Given the description of an element on the screen output the (x, y) to click on. 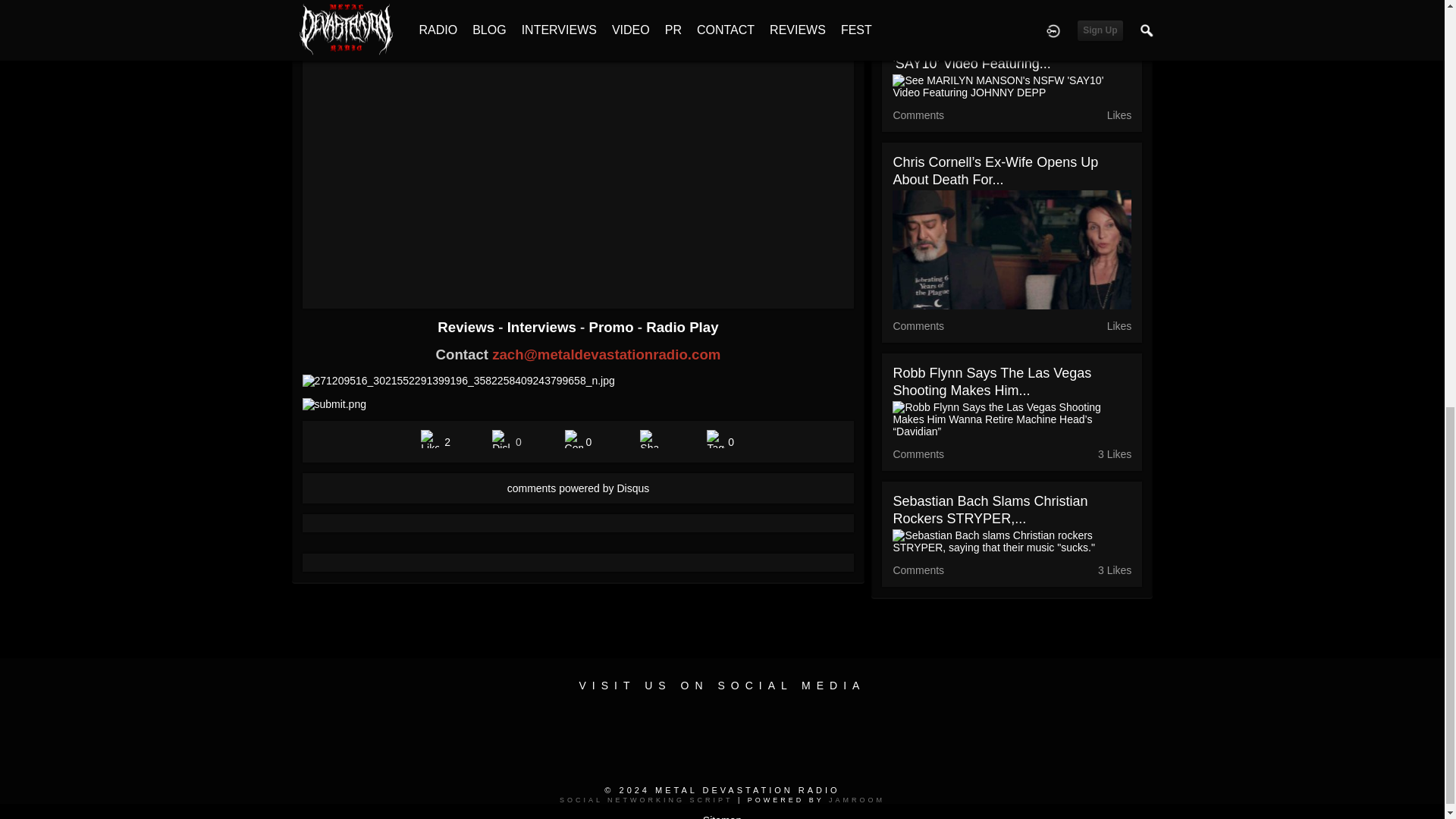
Interviews (542, 326)
Radio Play (681, 326)
Post Your Comment (573, 438)
Promo (612, 326)
Dislike (501, 438)
Tag (715, 438)
Share This with your Followers (649, 438)
Like (429, 438)
Reviews (467, 326)
